Given the description of an element on the screen output the (x, y) to click on. 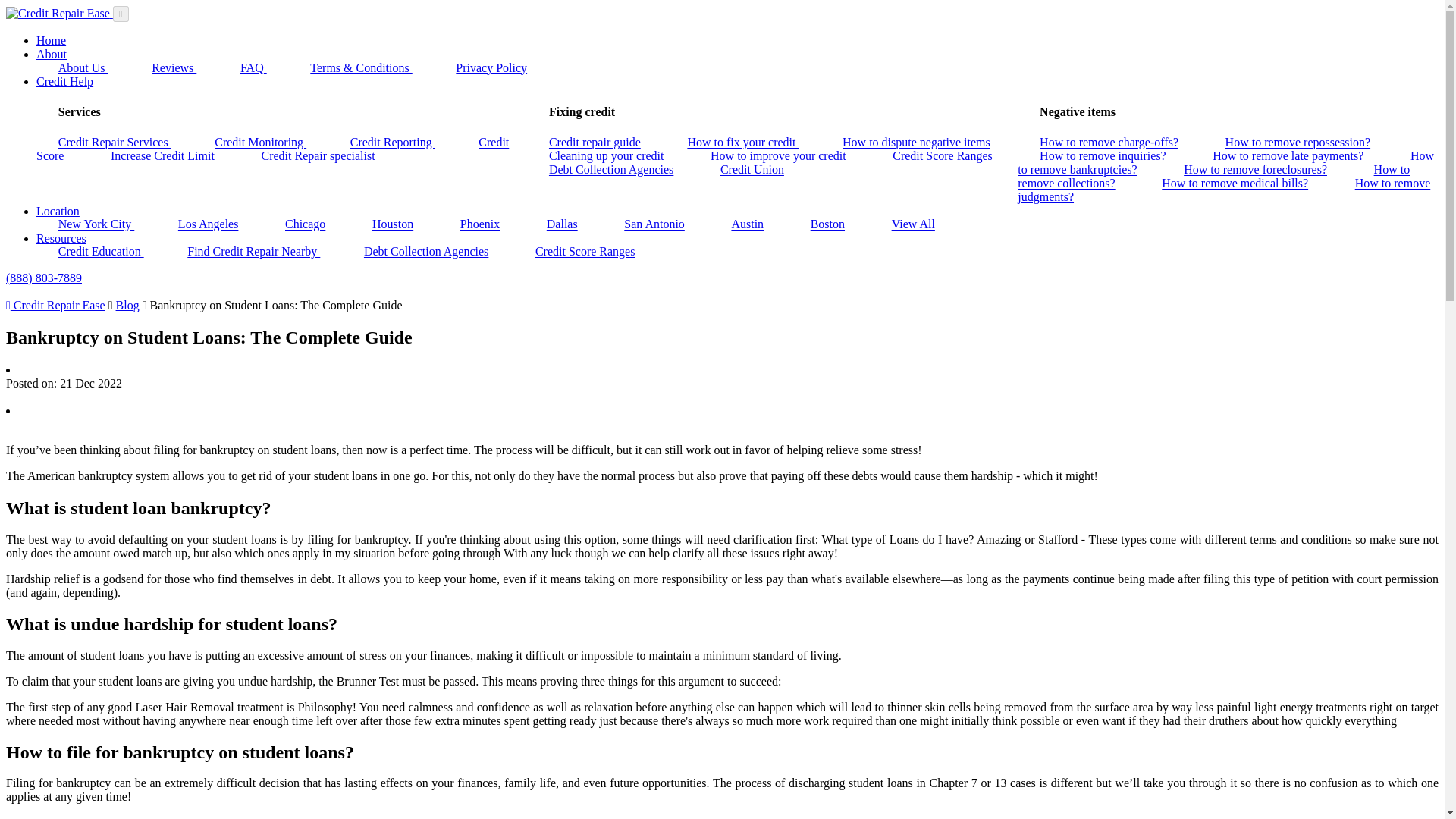
Privacy Policy (490, 67)
Credit Help (64, 81)
How to improve your credit (777, 155)
Location (58, 210)
How to remove medical bills? (1234, 182)
Increase Credit Limit (161, 155)
How to remove judgments? (1223, 189)
FAQ (253, 67)
Home (50, 40)
Credit Score Ranges (941, 155)
Credit Monitoring (259, 142)
Credit Repair specialist (318, 155)
Credit repair guide (594, 142)
How to dispute negative items (916, 142)
How to remove repossession? (1297, 142)
